Given the description of an element on the screen output the (x, y) to click on. 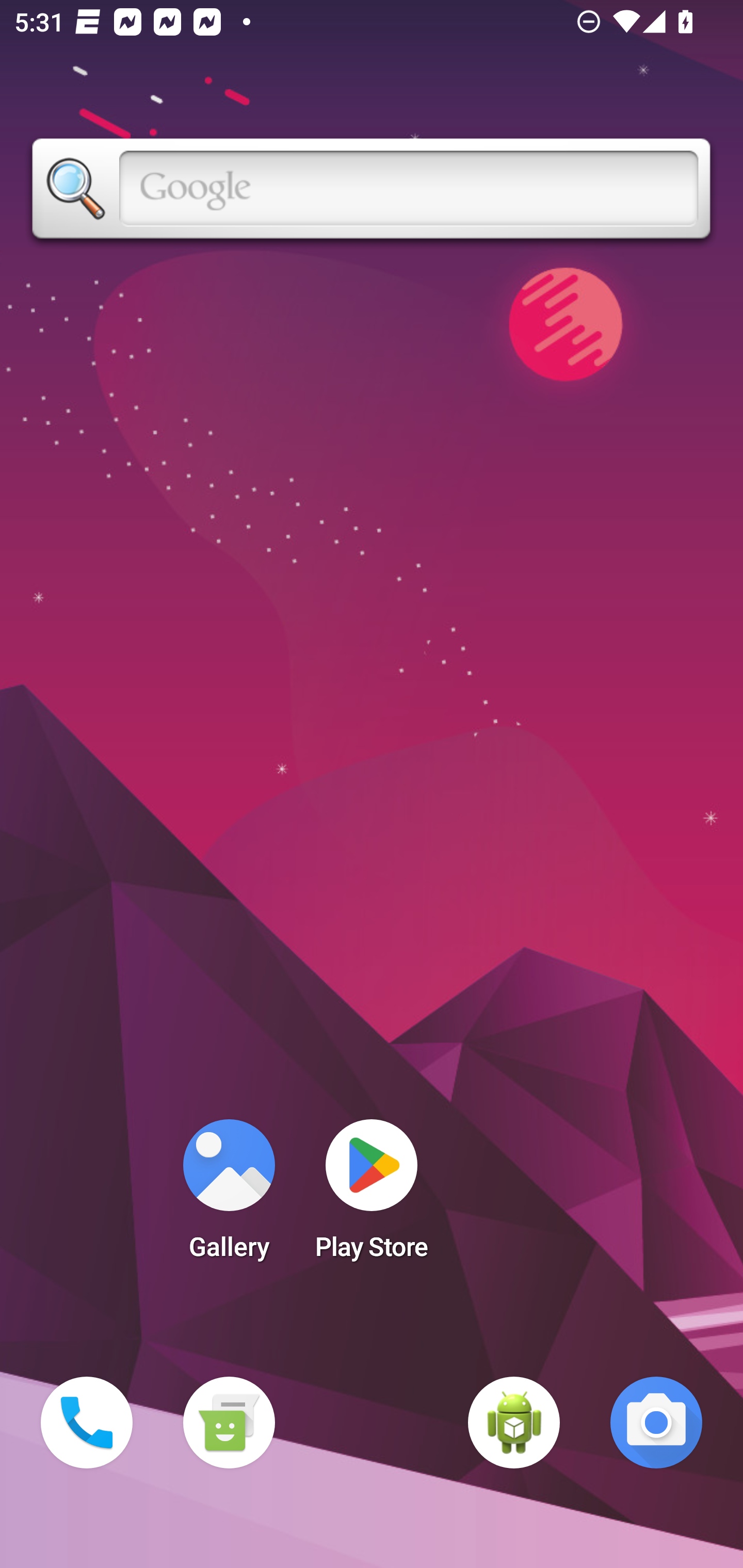
Gallery (228, 1195)
Play Store (371, 1195)
Phone (86, 1422)
Messaging (228, 1422)
WebView Browser Tester (513, 1422)
Camera (656, 1422)
